Given the description of an element on the screen output the (x, y) to click on. 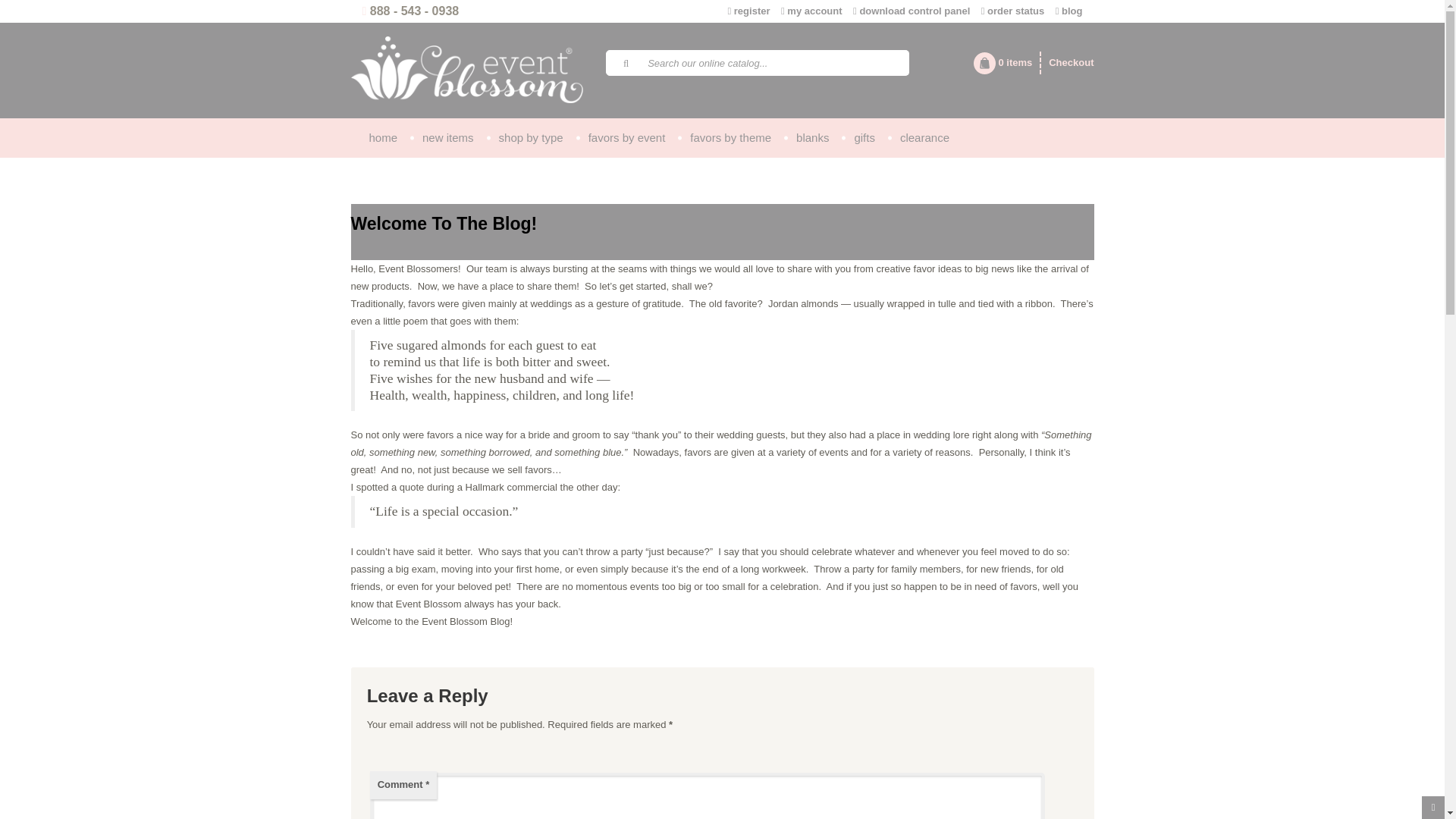
order status (1013, 10)
download control panel (911, 10)
register (749, 10)
0 items (1003, 62)
my account (811, 10)
Checkout (1066, 62)
new items (447, 137)
home (383, 137)
blog (1069, 10)
